Given the description of an element on the screen output the (x, y) to click on. 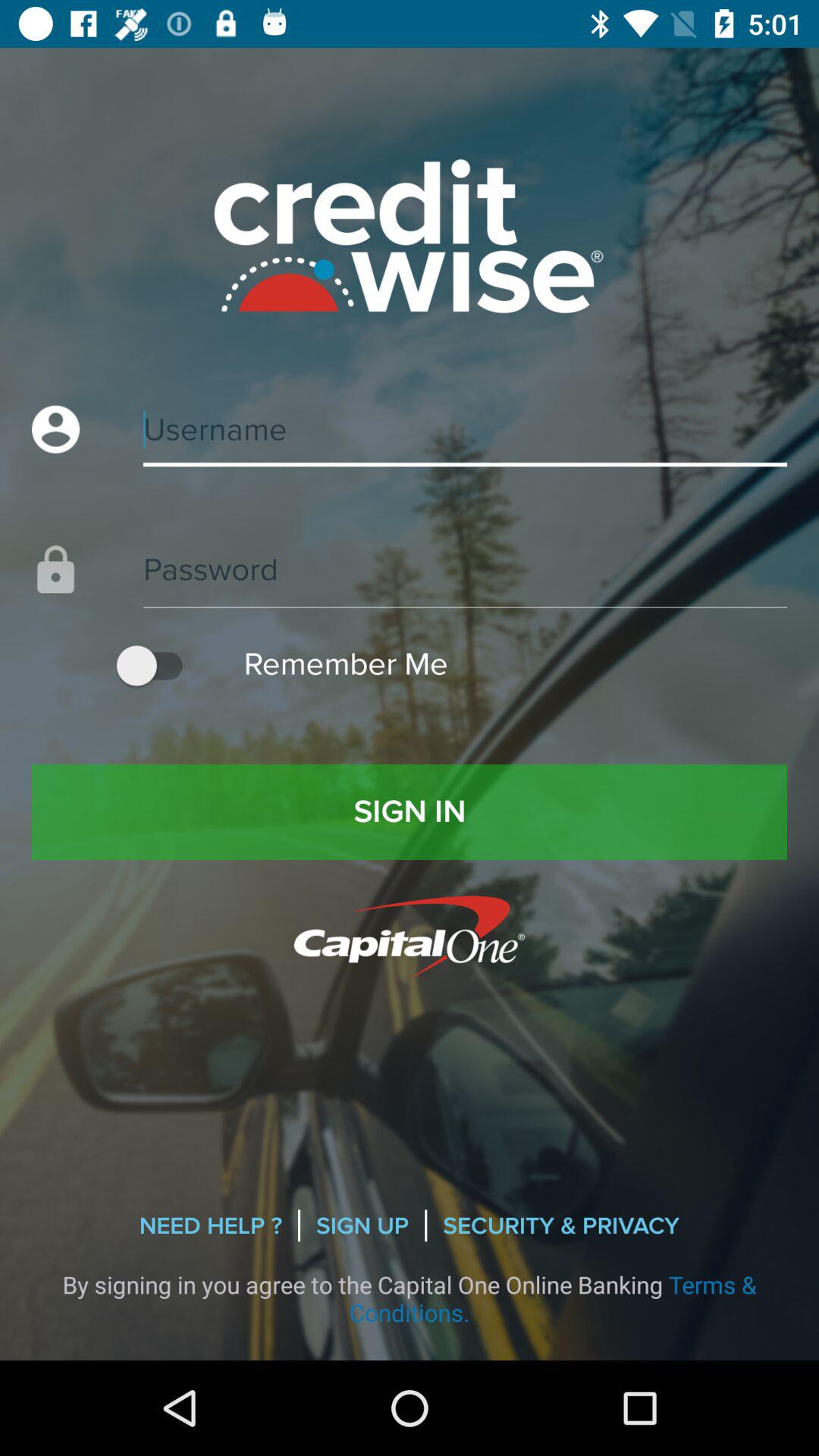
turn off security & privacy (561, 1225)
